Given the description of an element on the screen output the (x, y) to click on. 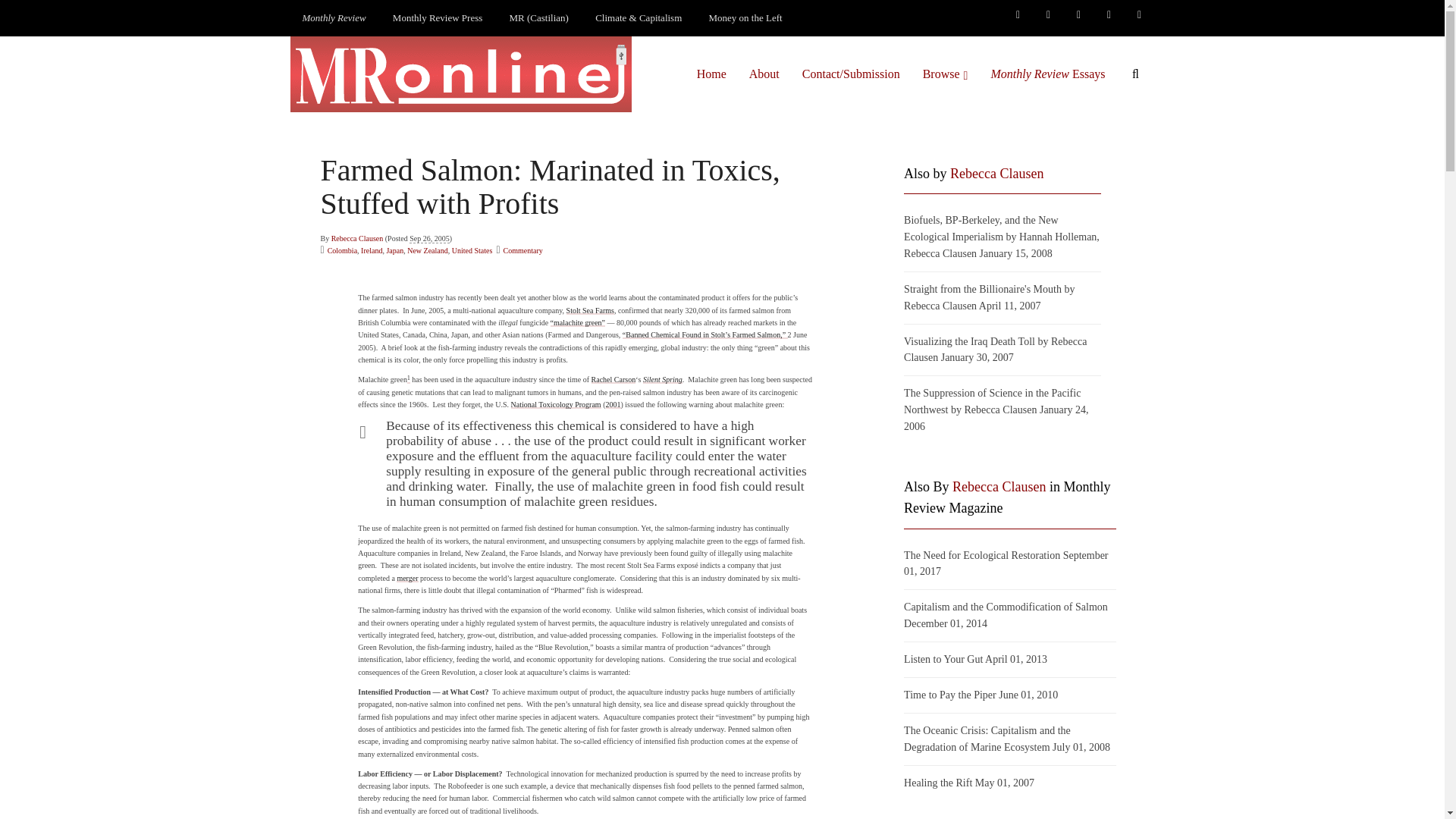
Money on the Left (745, 18)
Monthly Review Magazine (333, 18)
Browse (945, 74)
Monthly Review Press (437, 18)
Monthly Review (333, 18)
